Given the description of an element on the screen output the (x, y) to click on. 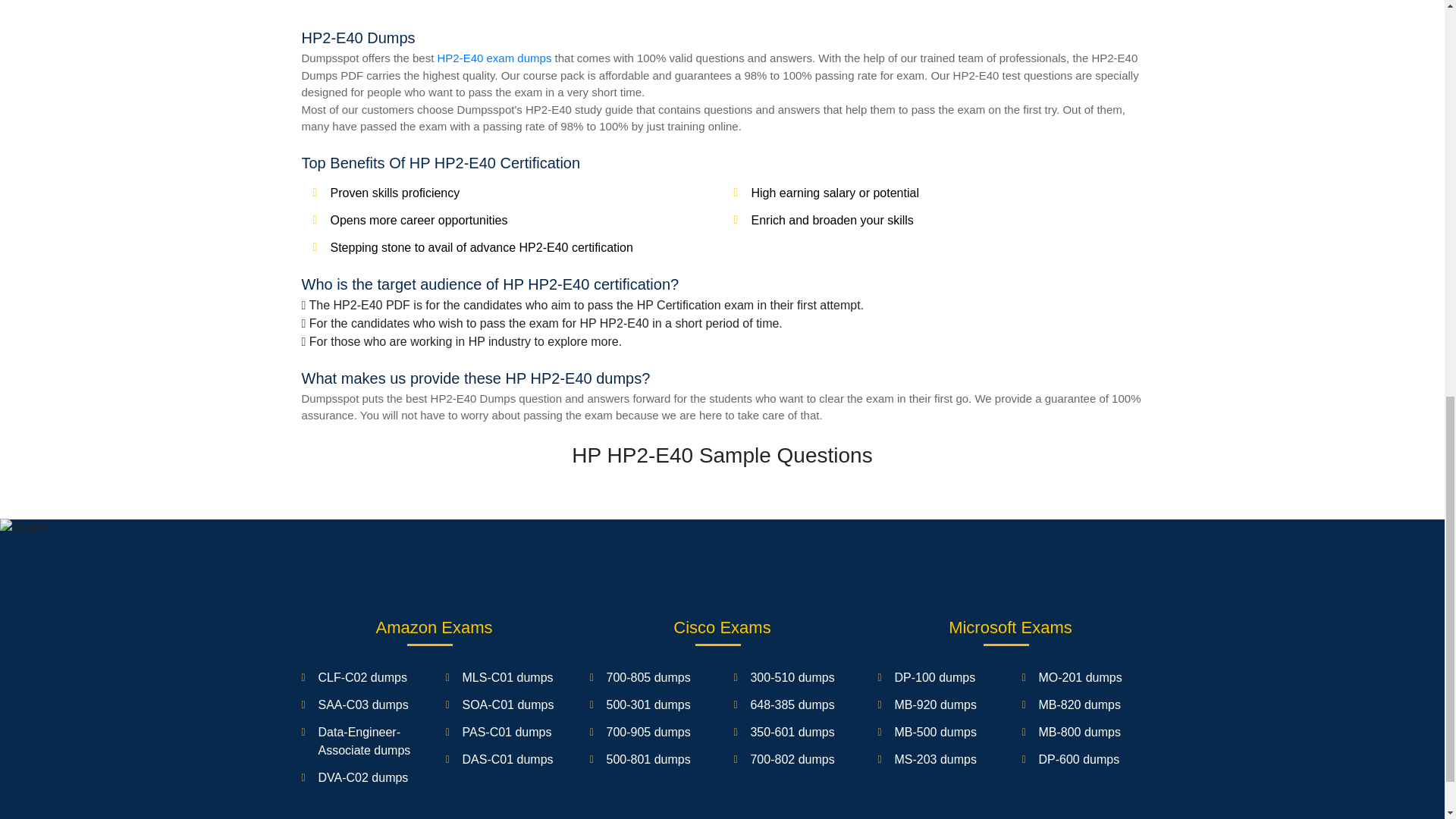
DAS-C01 dumps (507, 758)
350-601 dumps (791, 731)
MB-920 dumps (934, 704)
HP2-E40 exam dumps (493, 57)
MO-201 dumps (1079, 676)
MS-203 dumps (934, 758)
648-385 dumps (791, 704)
DVA-C02 dumps (363, 777)
DP-100 dumps (934, 676)
700-802 dumps (791, 758)
700-905 dumps (647, 731)
500-301 dumps (647, 704)
300-510 dumps (791, 676)
SOA-C01 dumps (507, 704)
PAS-C01 dumps (506, 731)
